Given the description of an element on the screen output the (x, y) to click on. 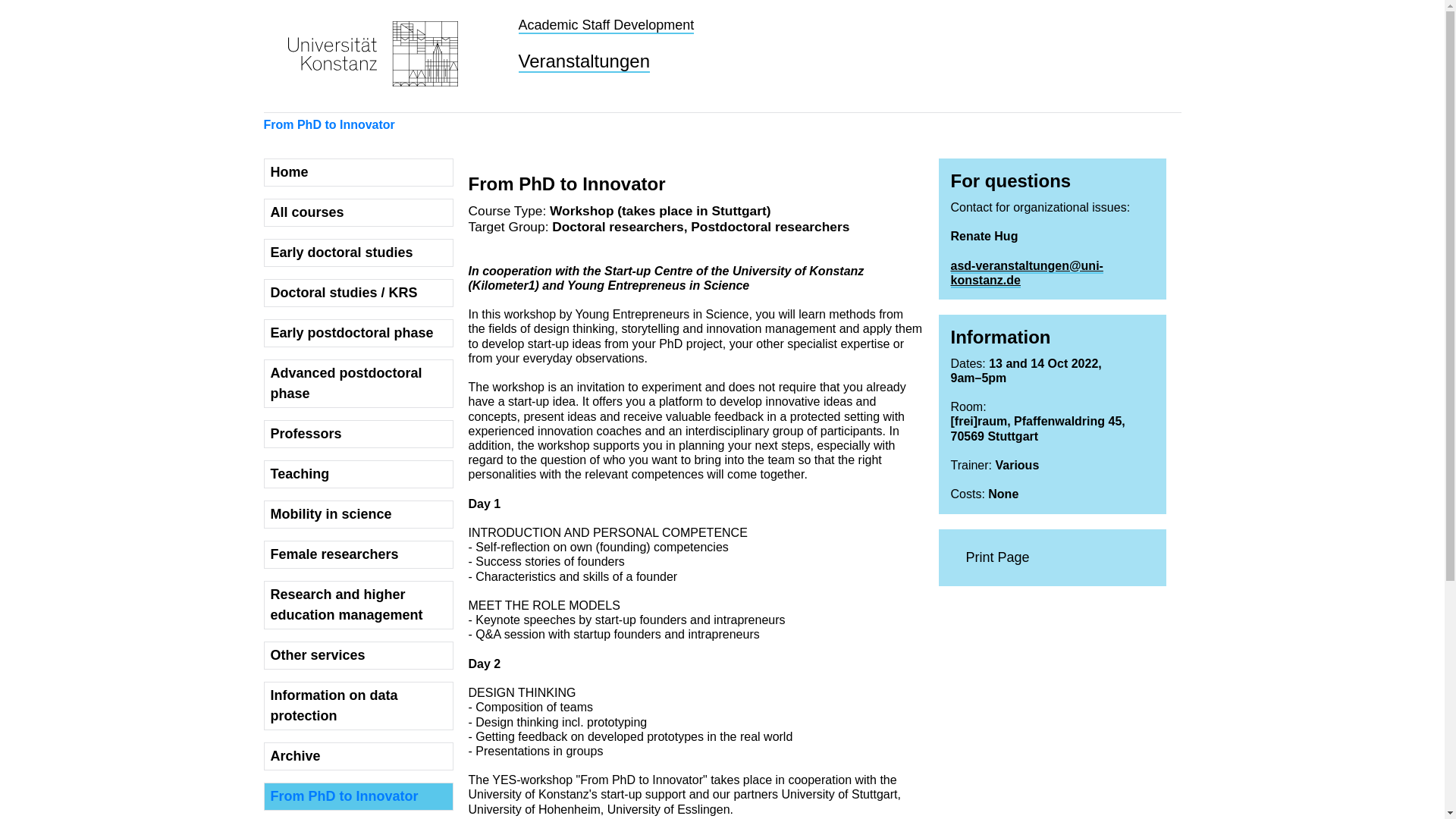
Academic Staff Development (606, 25)
From PhD to Innovator (357, 796)
Early doctoral studies (357, 252)
Professors (357, 433)
All courses (357, 212)
Advanced postdoctoral phase (357, 383)
Mobility in science (357, 514)
Other services (357, 655)
Research and higher education management (357, 604)
Female researchers (357, 554)
